Given the description of an element on the screen output the (x, y) to click on. 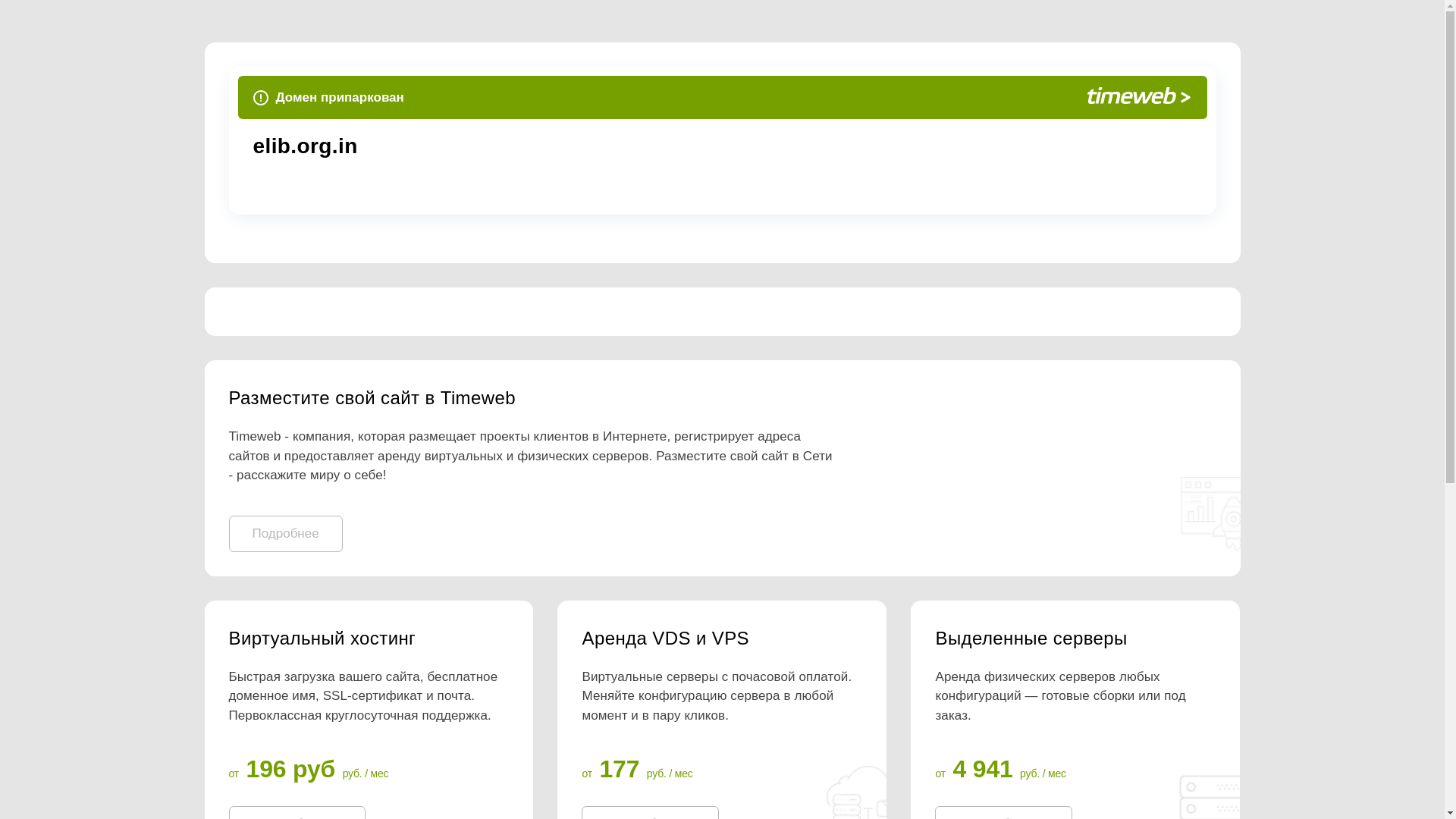
apt.ru (481, 146)
VDS (720, 637)
